Given the description of an element on the screen output the (x, y) to click on. 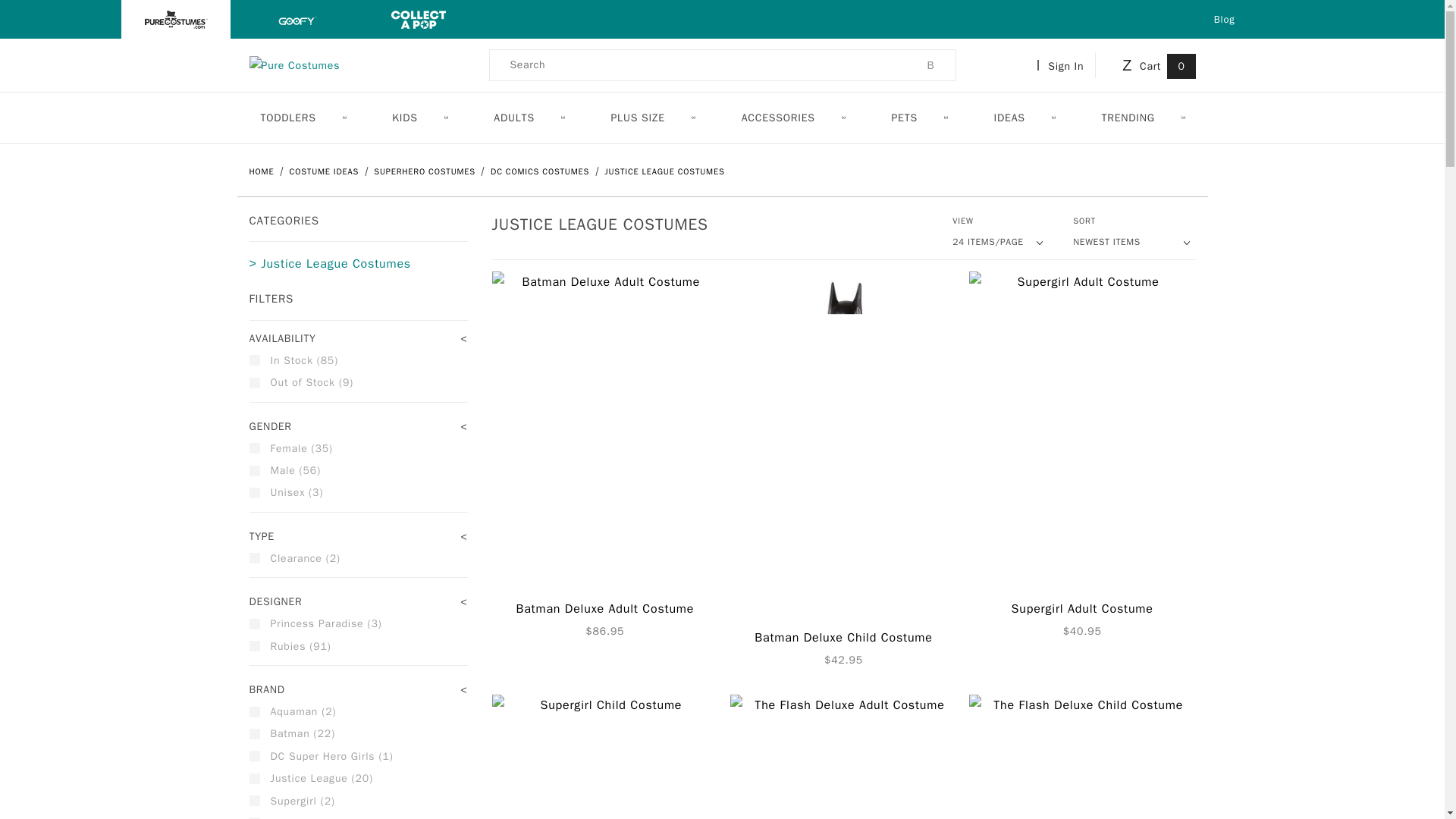
DC Comics Costumes (541, 171)
Cart 0 (1155, 64)
Sign In (1063, 64)
Justice League Costumes (663, 171)
Blog (1224, 18)
KIDS (419, 117)
Supergirl Child Costume (604, 756)
Costume Ideas (325, 171)
CollectaPop.com (418, 18)
ADULTS (528, 117)
